Given the description of an element on the screen output the (x, y) to click on. 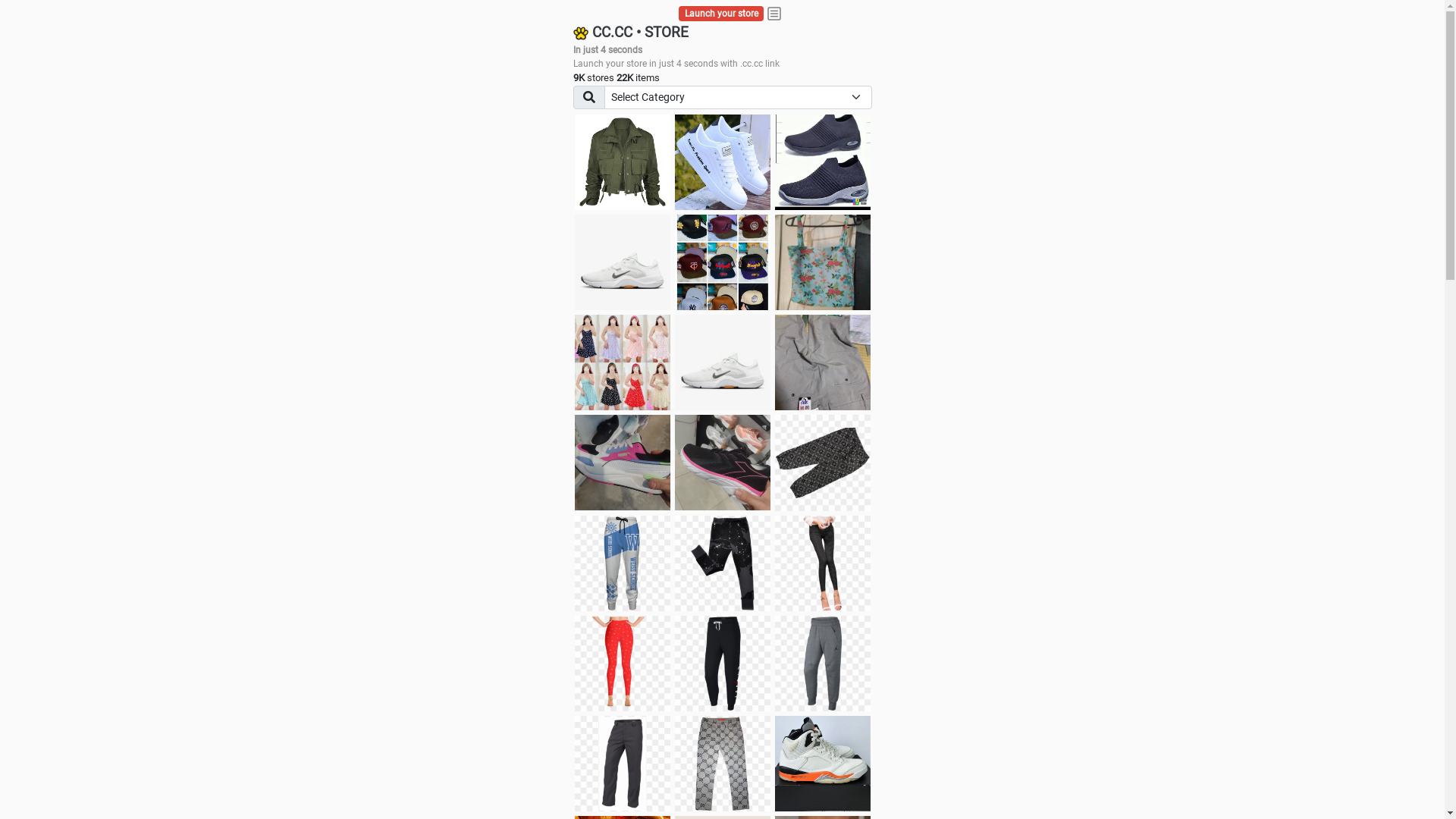
Pant Element type: hover (822, 563)
Shoes Element type: hover (722, 362)
Ukay cloth Element type: hover (822, 262)
Pant Element type: hover (722, 663)
Zapatillas Element type: hover (722, 462)
Dress/square nect top Element type: hover (622, 362)
Pant Element type: hover (622, 763)
Launch your store Element type: text (721, 13)
Pant Element type: hover (722, 763)
jacket Element type: hover (622, 162)
Shoes for boys Element type: hover (622, 262)
Pant Element type: hover (622, 563)
shoes for boys Element type: hover (822, 162)
Pant Element type: hover (722, 563)
Things we need Element type: hover (722, 262)
Pant Element type: hover (822, 663)
Short pant Element type: hover (822, 462)
Shoe Element type: hover (822, 763)
Pant Element type: hover (622, 663)
Zapatillas pumas Element type: hover (622, 462)
white shoes Element type: hover (722, 162)
